Given the description of an element on the screen output the (x, y) to click on. 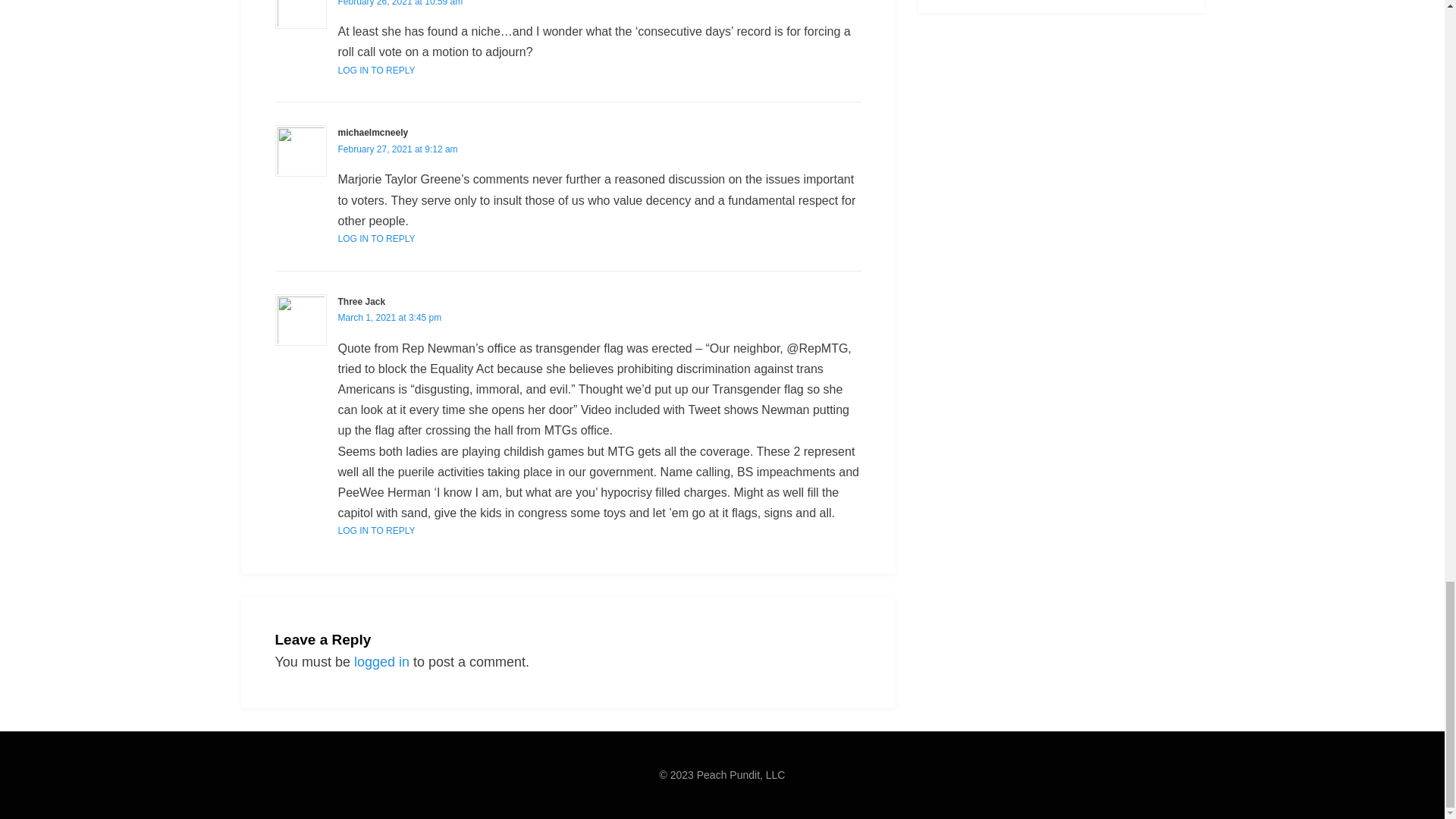
logged in (381, 661)
michaelmcneely (373, 132)
LOG IN TO REPLY (375, 238)
LOG IN TO REPLY (375, 70)
TemplatePocket (365, 796)
March 1, 2021 at 3:45 pm (389, 317)
February 26, 2021 at 10:59 am (400, 3)
WordPress (481, 796)
LOG IN TO REPLY (375, 530)
February 27, 2021 at 9:12 am (397, 149)
